Given the description of an element on the screen output the (x, y) to click on. 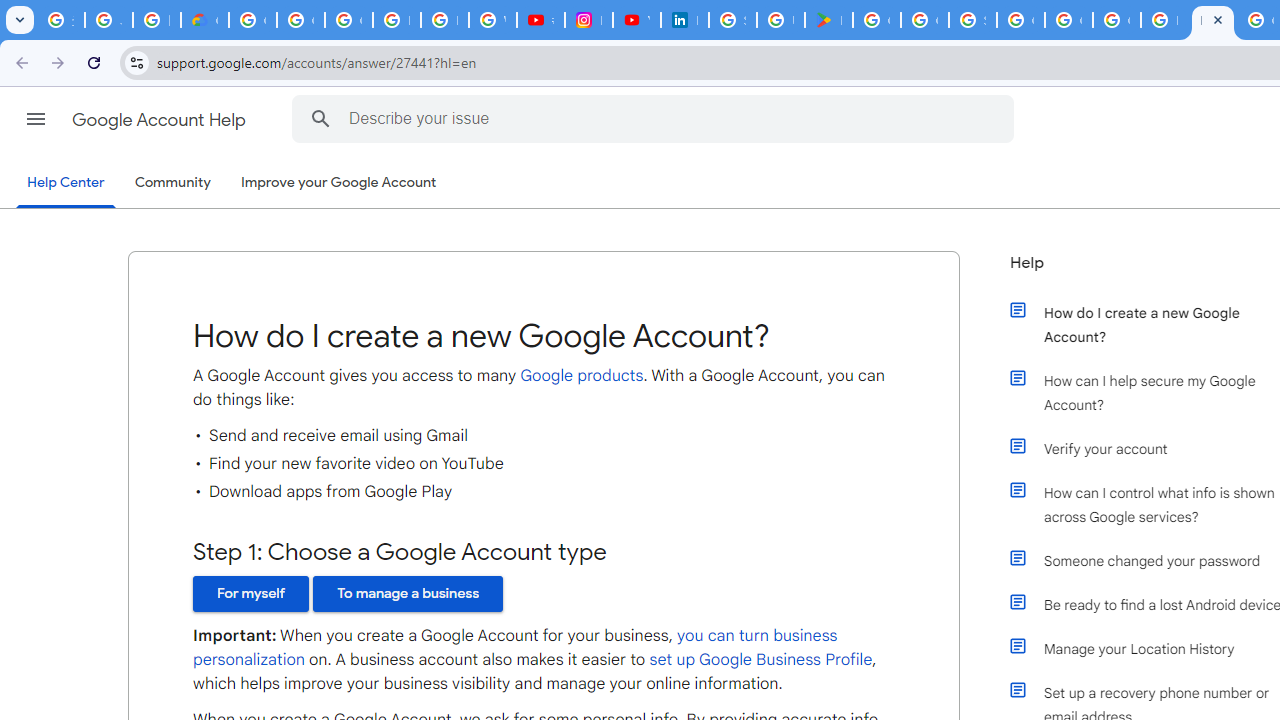
you can turn business personalization (515, 647)
Search Help Center (320, 118)
YouTube Culture & Trends - On The Rise: Handcam Videos (636, 20)
How do I create a new Google Account? - Google Account Help (1164, 20)
Sign in - Google Accounts (732, 20)
How do I create a new Google Account? - Google Account Help (1212, 20)
Main menu (35, 119)
Help Center (65, 183)
